Given the description of an element on the screen output the (x, y) to click on. 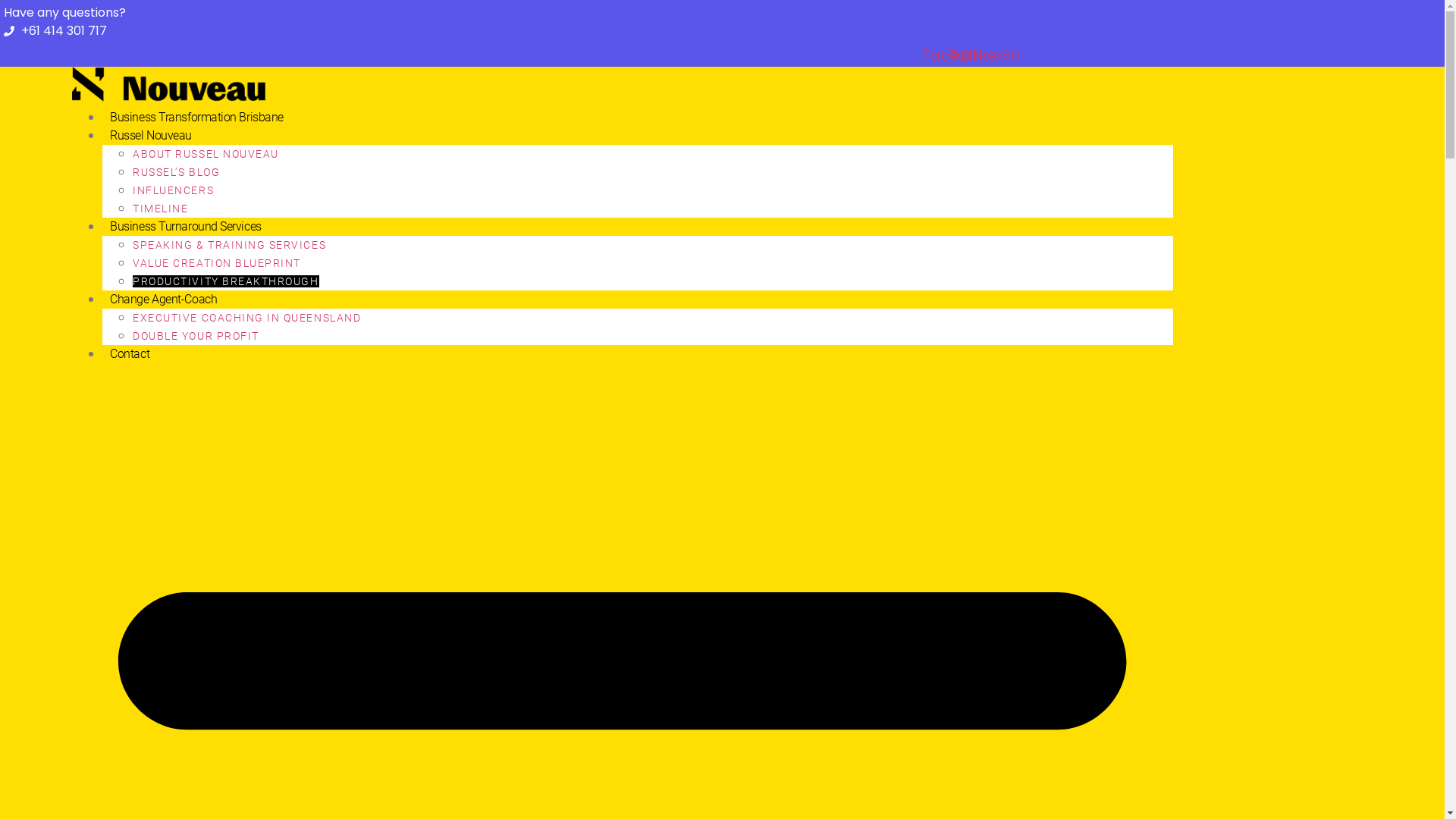
SPEAKING & TRAINING SERVICES Element type: text (229, 244)
Business Transformation Brisbane Element type: text (196, 116)
VALUE CREATION BLUEPRINT Element type: text (216, 263)
Change Agent-Coach Element type: text (163, 298)
EXECUTIVE COACHING IN QUEENSLAND Element type: text (246, 317)
Contact Element type: text (129, 353)
Twitter Element type: text (974, 54)
+61 414 301 717 Element type: text (54, 30)
DOUBLE YOUR PROFIT Element type: text (195, 335)
ABOUT RUSSEL NOUVEAU Element type: text (205, 153)
INFLUENCERS Element type: text (172, 190)
PRODUCTIVITY BREAKTHROUGH Element type: text (225, 281)
TIMELINE Element type: text (160, 208)
Linkedin Element type: text (989, 54)
Russel Nouveau Element type: text (150, 135)
Business Turnaround Services Element type: text (185, 226)
Facebook Element type: text (958, 54)
